Given the description of an element on the screen output the (x, y) to click on. 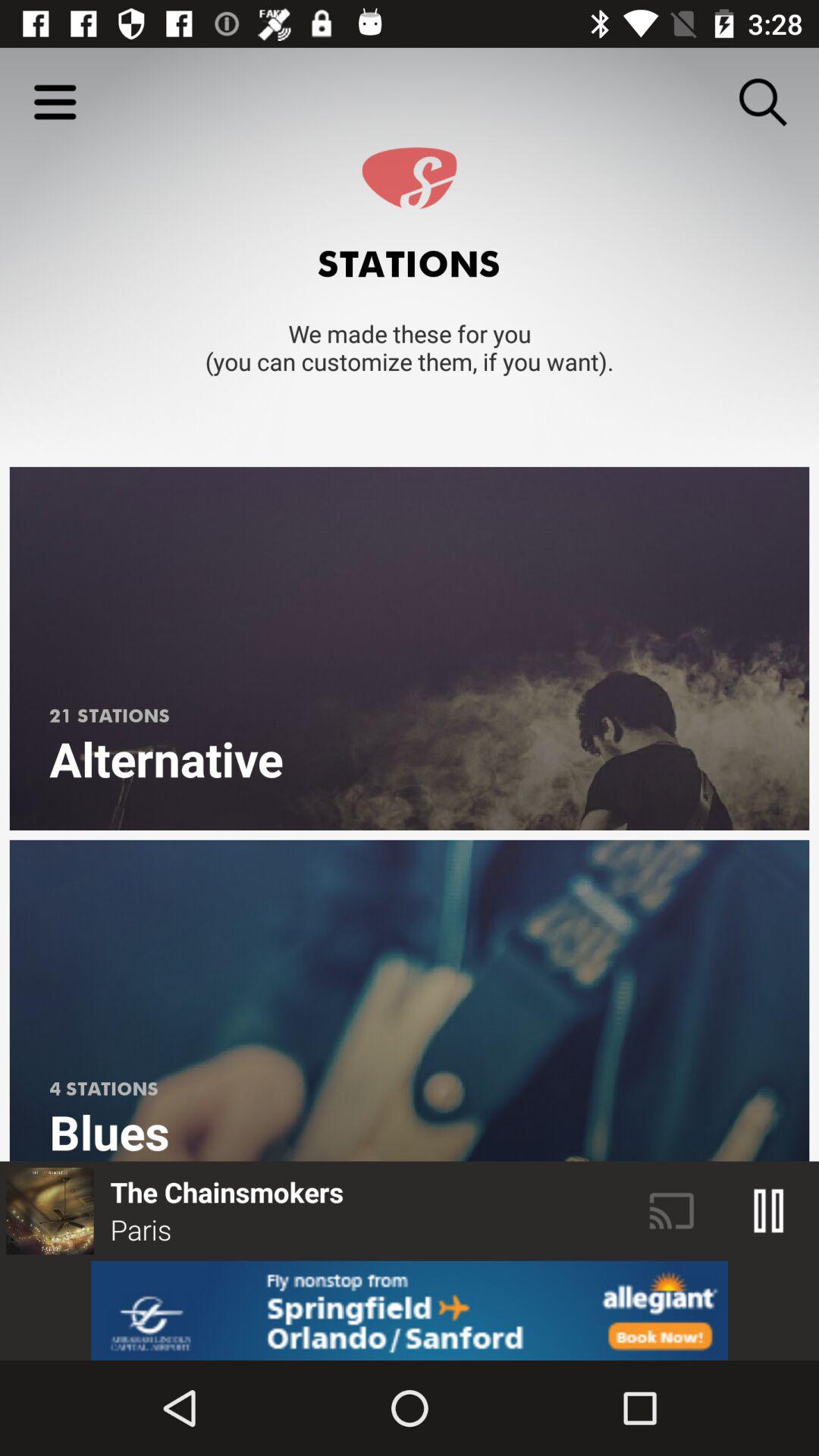
advertisement link (409, 1310)
